Given the description of an element on the screen output the (x, y) to click on. 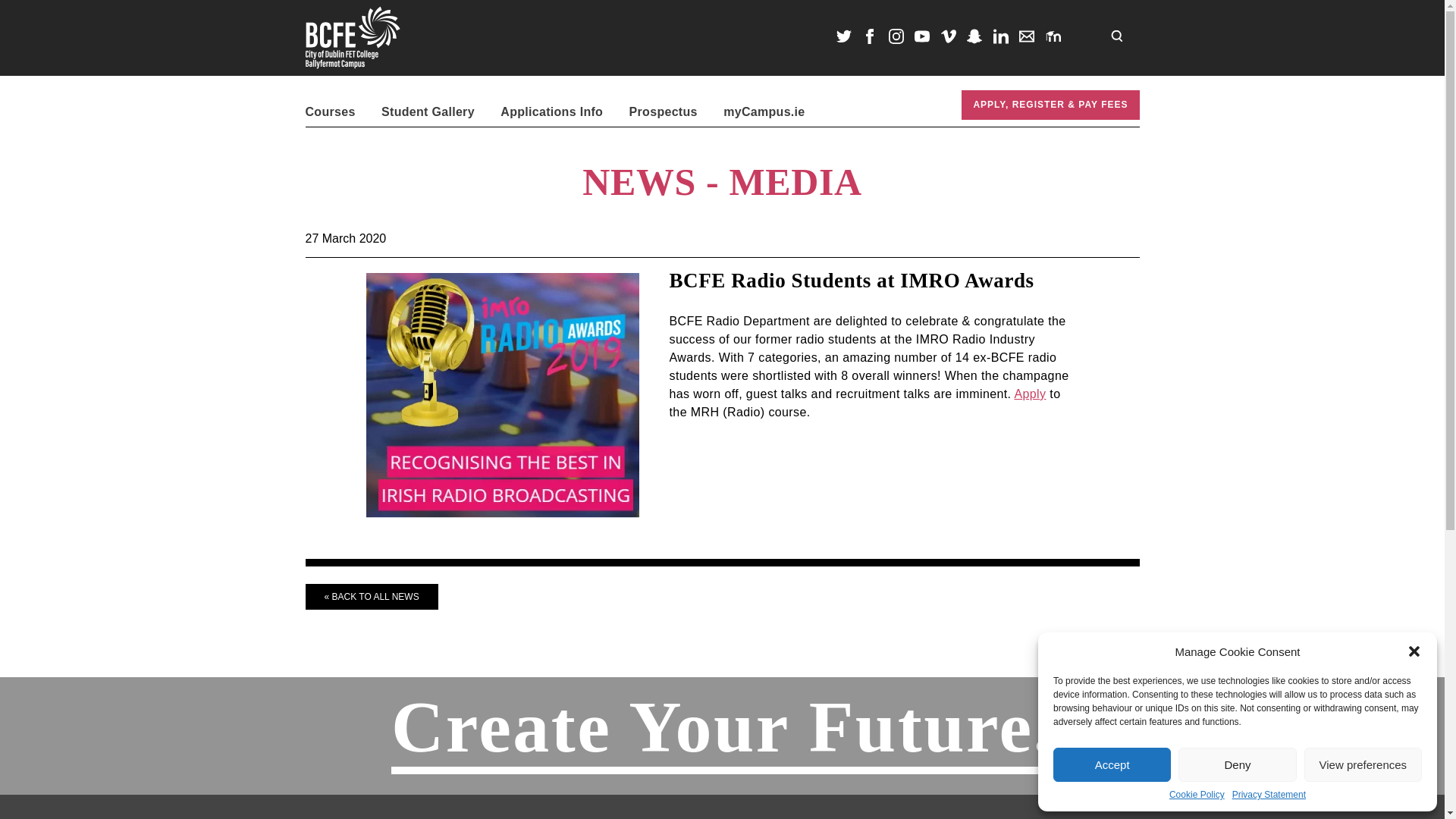
Deny (1236, 764)
Accept (1111, 764)
View preferences (1363, 764)
Privacy Statement (1268, 794)
Cookie Policy (1196, 794)
Student Gallery (427, 111)
Courses (329, 111)
